Given the description of an element on the screen output the (x, y) to click on. 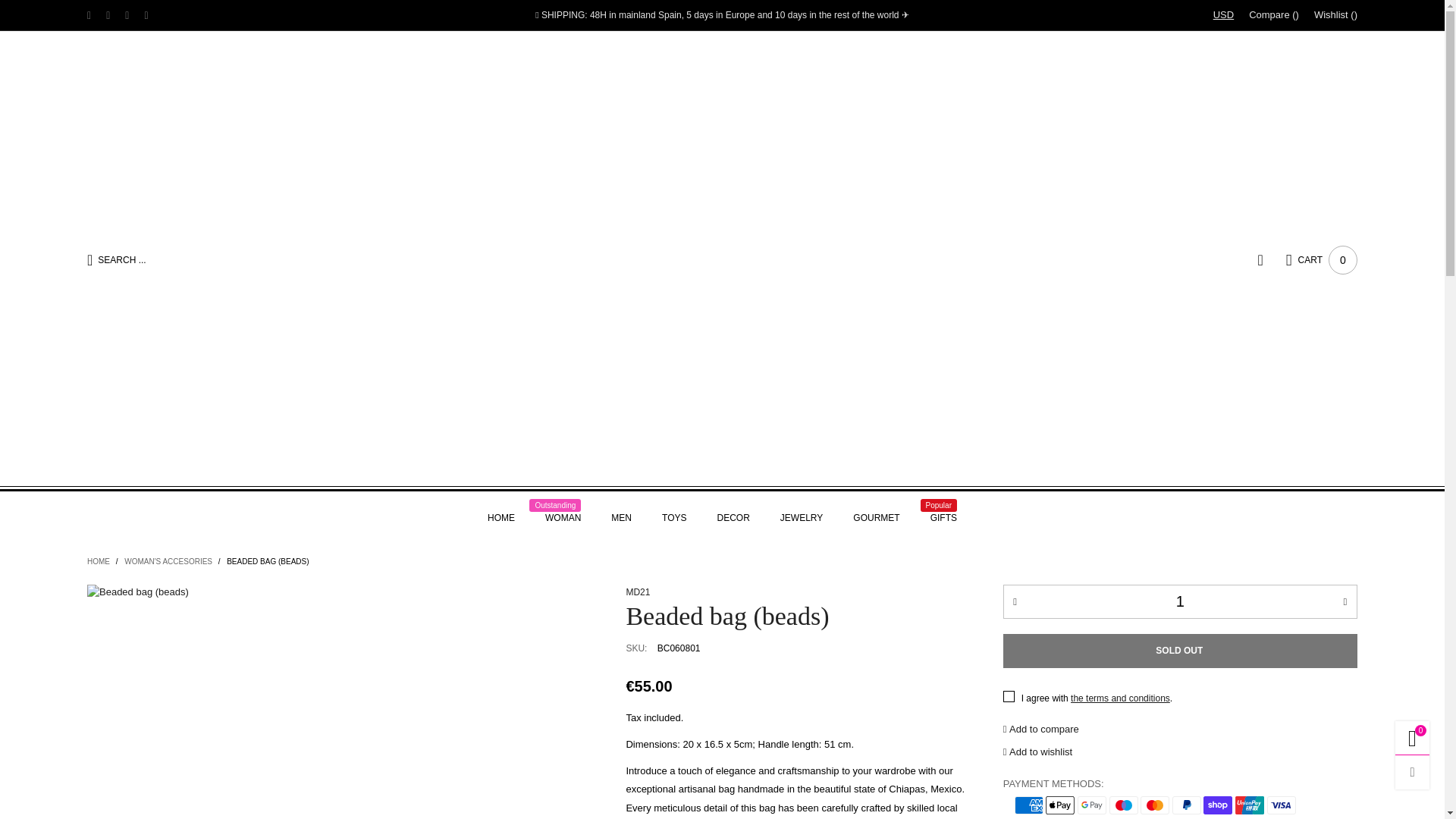
Shop Pay (1217, 805)
MEN (621, 517)
PayPal (1186, 805)
Cart (1320, 259)
Apple Pay (1059, 805)
JEWELRY (801, 517)
Pinterest (126, 15)
Wishlist (1335, 15)
Currency (1223, 15)
Twitter (89, 15)
